Given the description of an element on the screen output the (x, y) to click on. 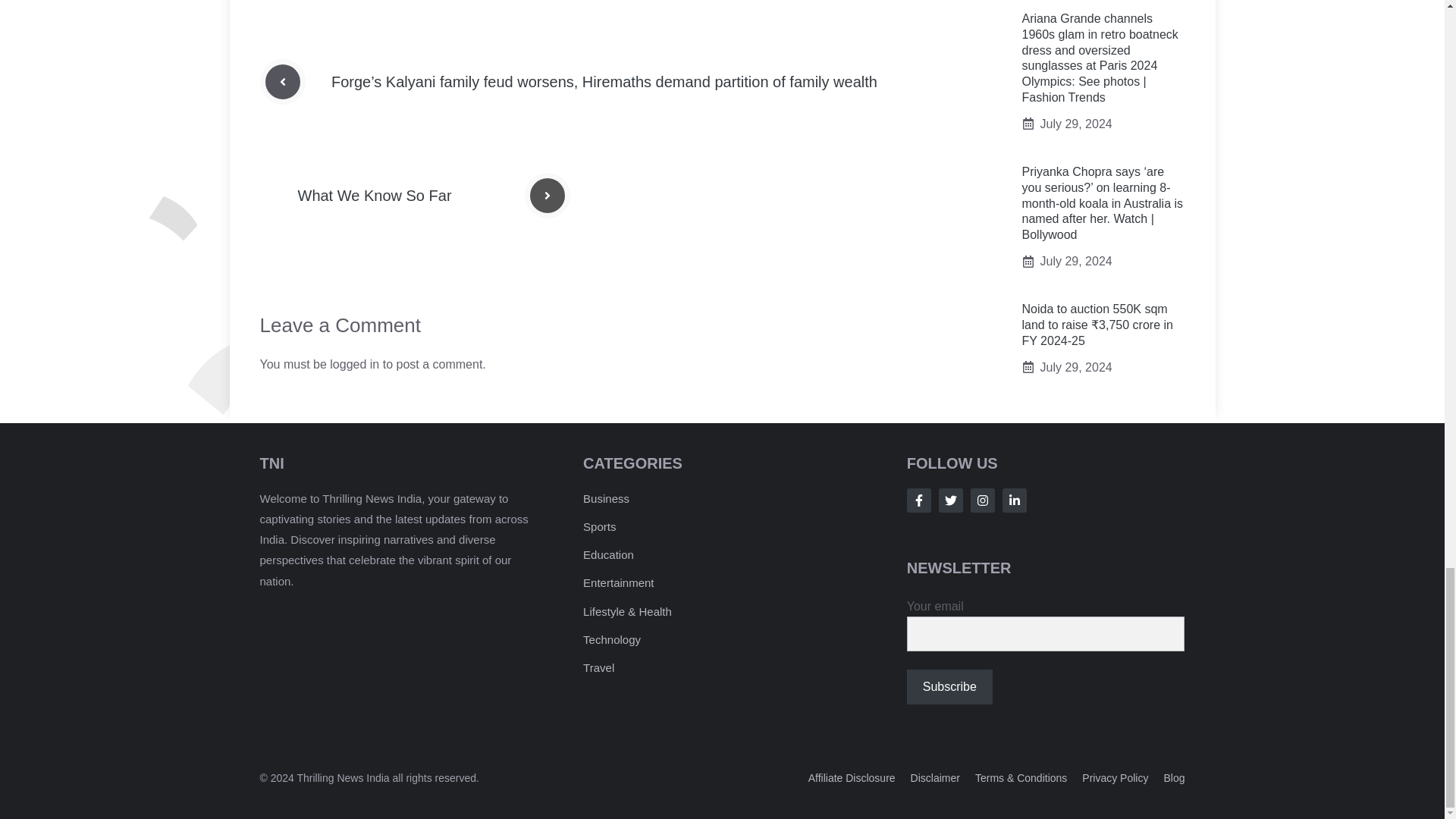
Business (605, 498)
logged in (354, 364)
What We Know So Far (374, 195)
Sports (599, 526)
Subscribe (949, 686)
